Given the description of an element on the screen output the (x, y) to click on. 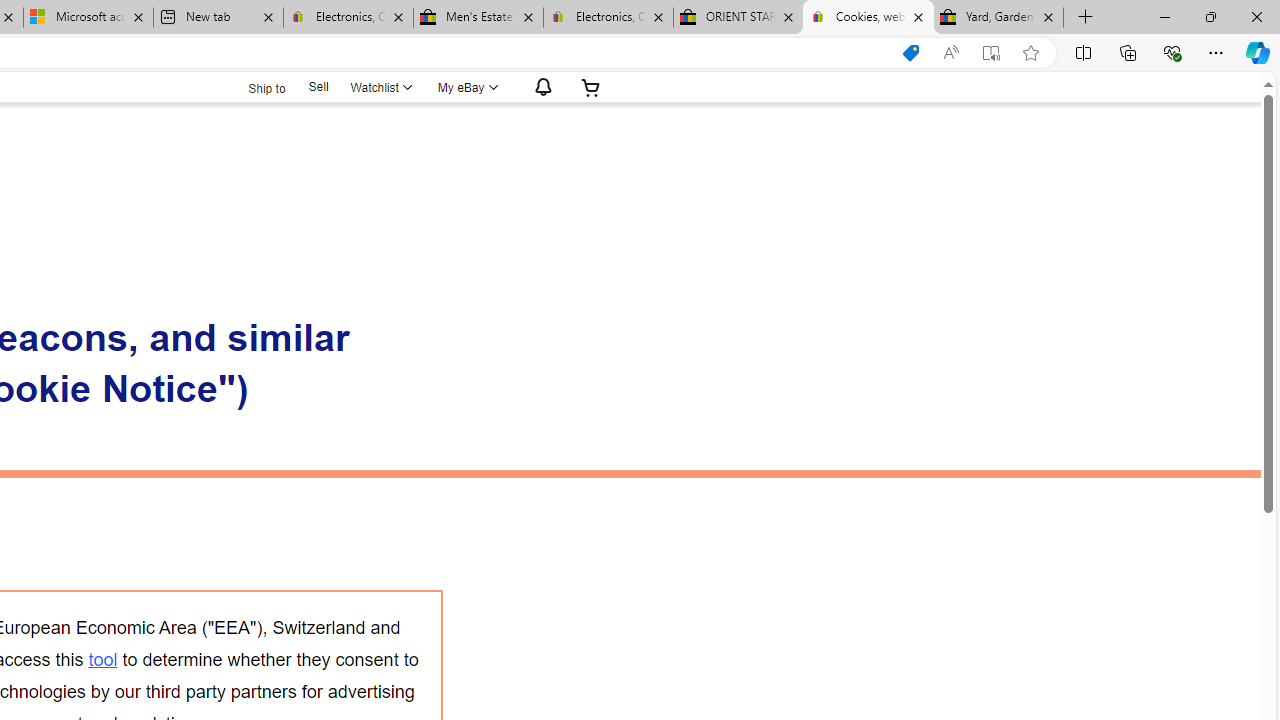
tool - opens in new window or tab (102, 659)
Your shopping cart (591, 87)
Ship to (253, 85)
Expand Cart (591, 87)
My eBayExpand My eBay (466, 87)
Microsoft account | Account Checkup (88, 17)
Yard, Garden & Outdoor Living (998, 17)
Sell (318, 87)
